Given the description of an element on the screen output the (x, y) to click on. 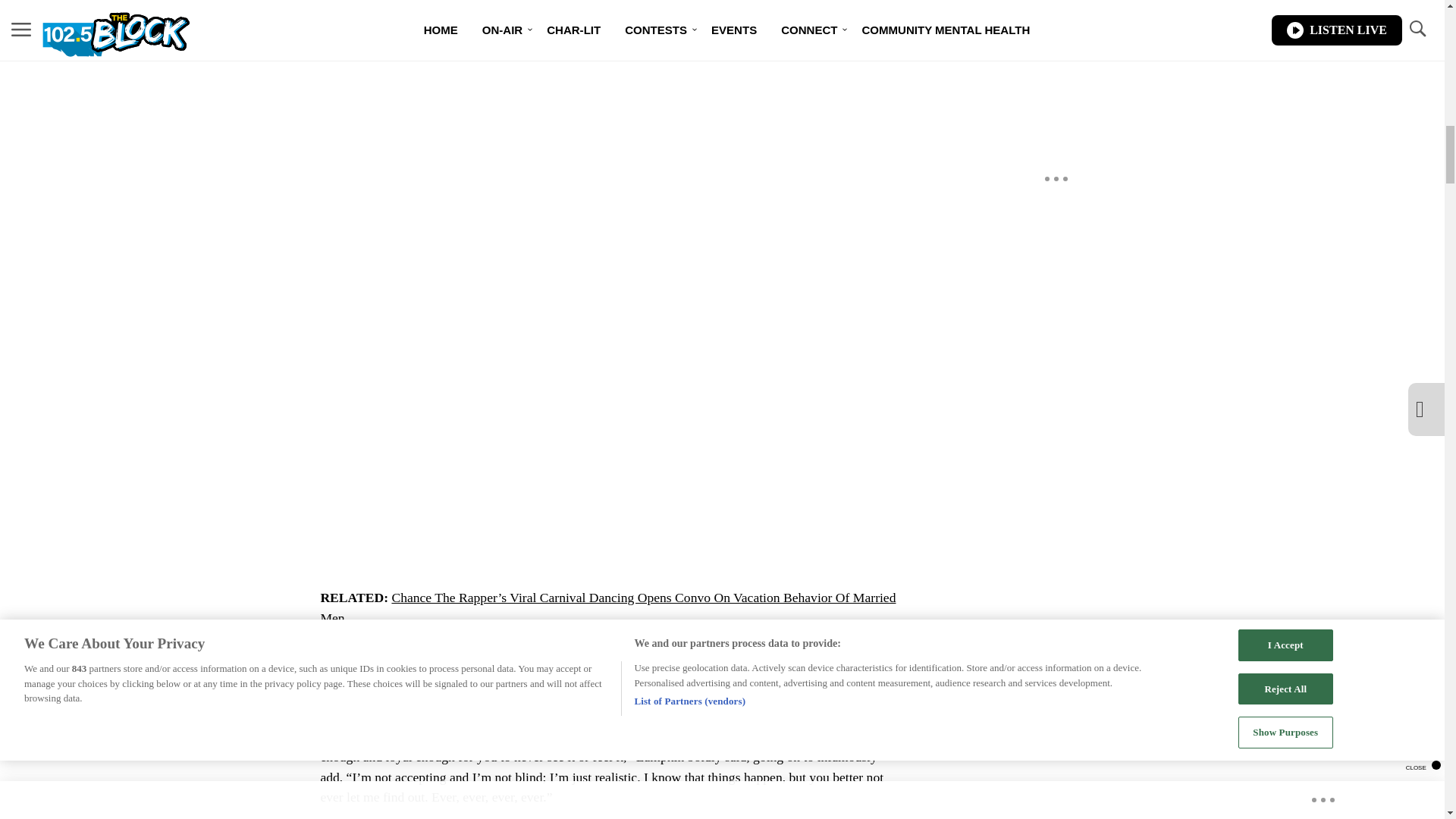
MadameNoire (645, 676)
